Given the description of an element on the screen output the (x, y) to click on. 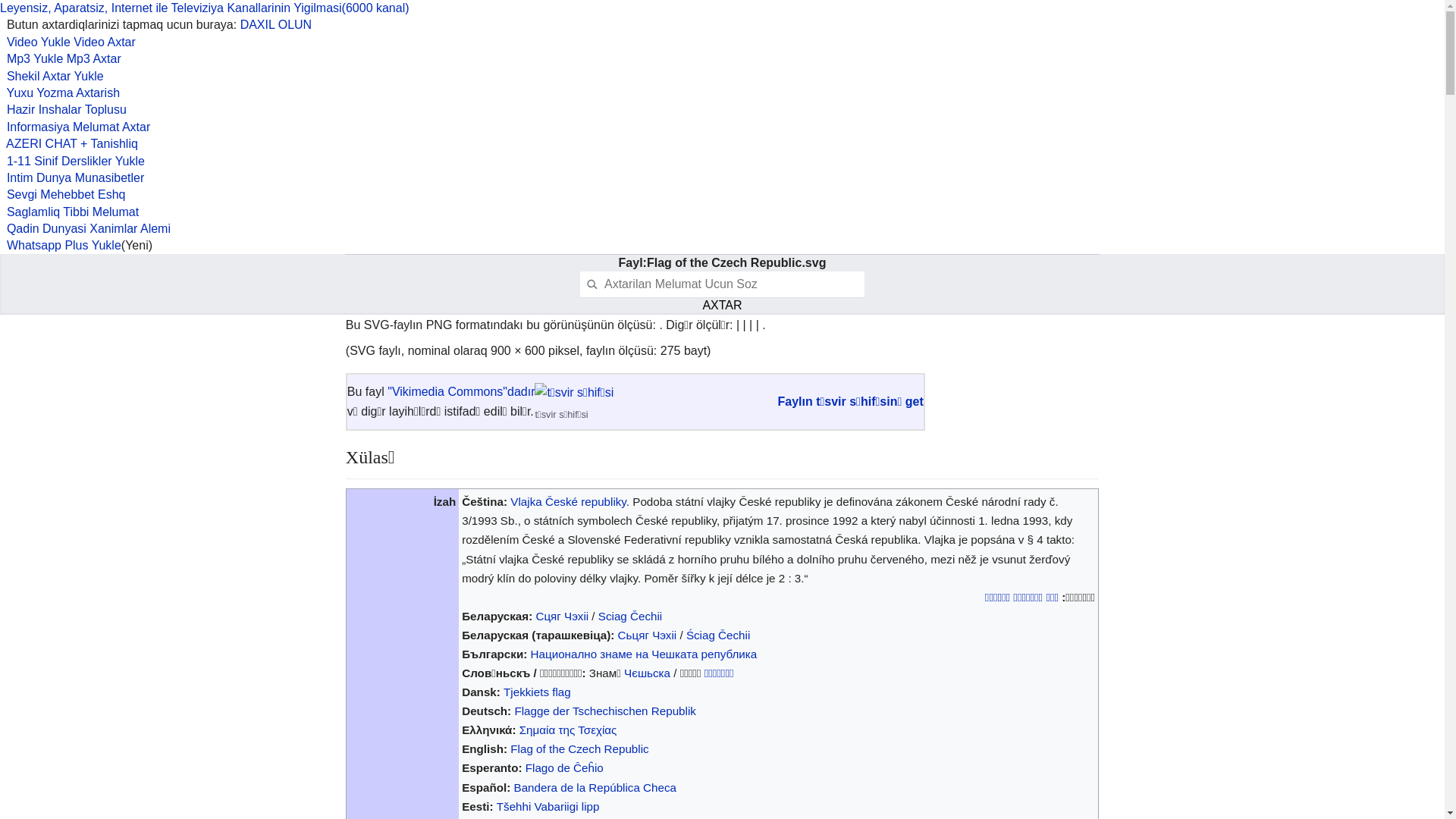
  Qadin Dunyasi Xanimlar Alemi Element type: text (85, 228)
  Intim Dunya Munasibetler Element type: text (72, 177)
  Yuxu Yozma Axtarish Element type: text (59, 92)
Flagge der Tschechischen Republik Element type: text (604, 710)
  Mp3 Yukle Mp3 Axtar Element type: text (60, 58)
  Saglamliq Tibbi Melumat Element type: text (69, 211)
  Video Yukle Video Axtar Element type: text (67, 41)
DAXIL OLUN Element type: text (276, 24)
  AZERI CHAT + Tanishliq Element type: text (69, 143)
  Sevgi Mehebbet Eshq Element type: text (62, 194)
AXTAR Element type: text (721, 305)
  1-11 Sinif Derslikler Yukle Element type: text (72, 160)
  Whatsapp Plus Yukle Element type: text (60, 244)
  Informasiya Melumat Axtar Element type: text (75, 126)
  Hazir Inshalar Toplusu Element type: text (63, 109)
Flag of the Czech Republic Element type: text (579, 748)
Tjekkiets flag Element type: text (537, 691)
  Shekil Axtar Yukle Element type: text (51, 75)
